Given the description of an element on the screen output the (x, y) to click on. 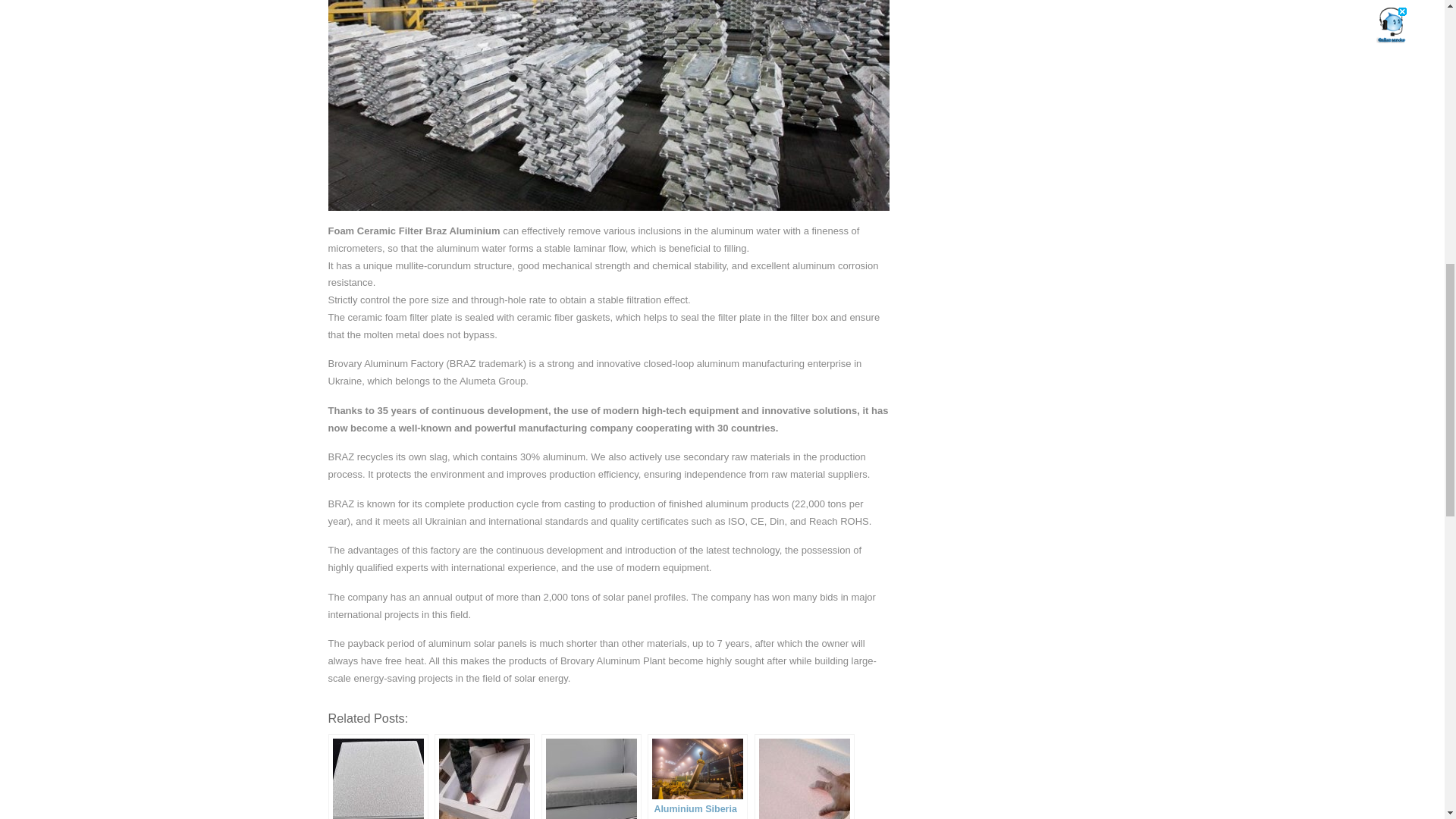
Ceramic Foam Filter Nadvoitsy Aluminium (377, 776)
Use Foundry Filters (804, 776)
Aluminium Siberia Ceramic Foam Filter Supplier (697, 776)
Aluminium Scrap Aluminum Furnace Filter (591, 776)
Use Foundry Filters (804, 776)
Aluminium Siberia Ceramic Foam Filter Supplier (697, 776)
Ceramic Foam Filter Nadvoitsy Aluminium (377, 776)
Porous Sintered Ceramic Foam Filter (483, 776)
Porous Sintered Ceramic Foam Filter (483, 776)
Aluminium Scrap Aluminum Furnace Filter (591, 776)
